Given the description of an element on the screen output the (x, y) to click on. 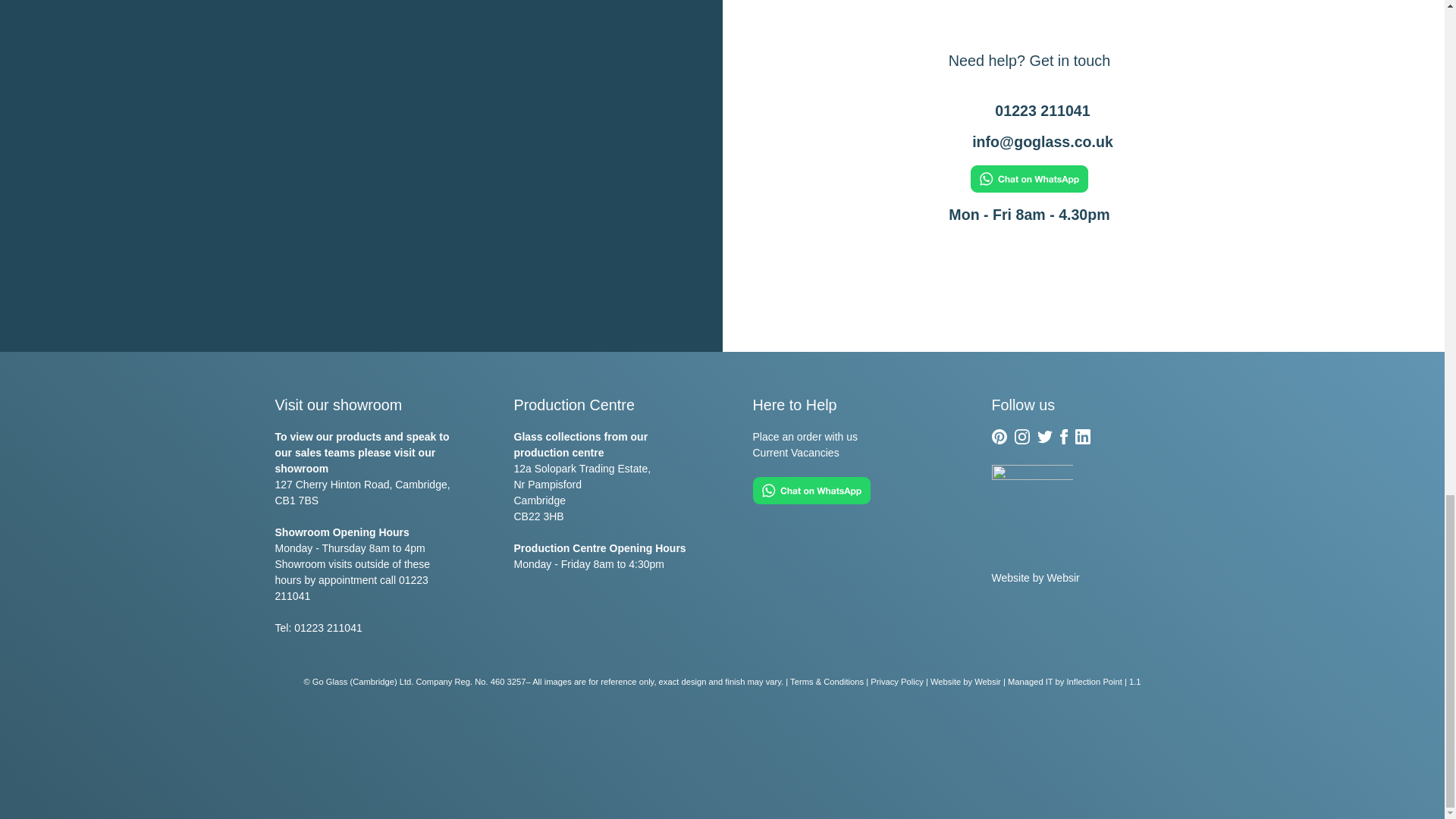
LinkedIn (1082, 436)
